Given the description of an element on the screen output the (x, y) to click on. 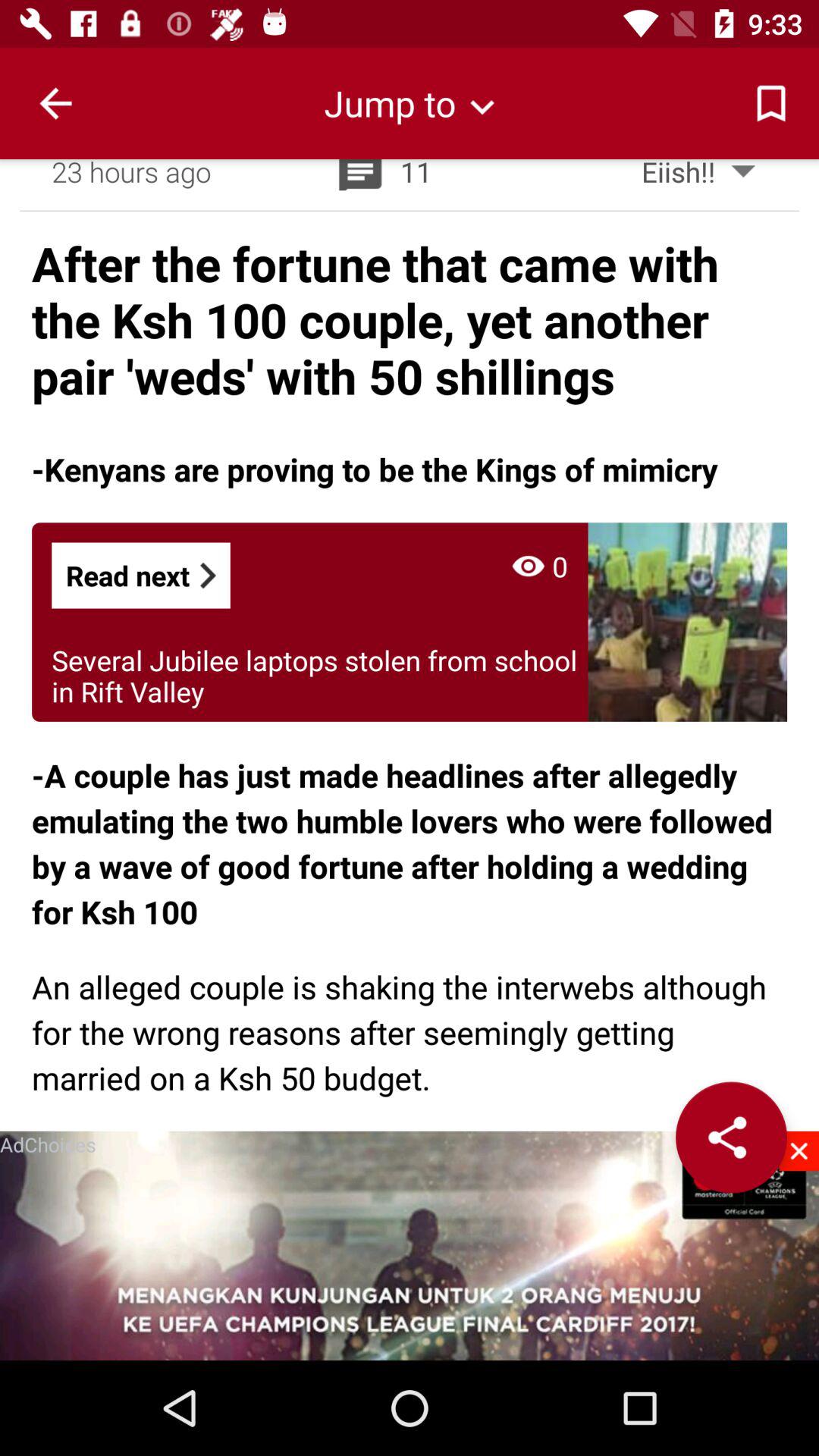
share the article (731, 1137)
